Given the description of an element on the screen output the (x, y) to click on. 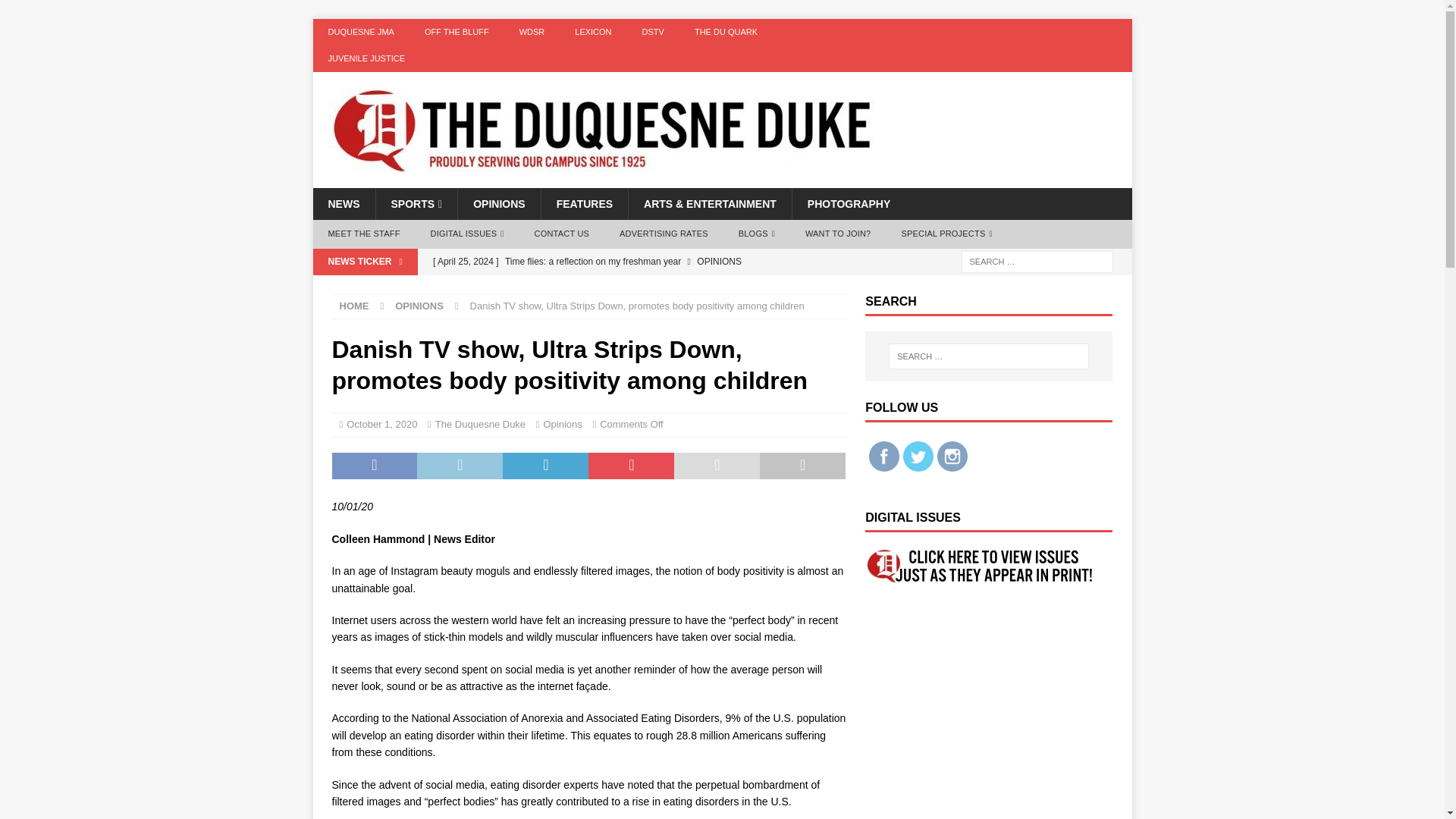
OPINIONS (498, 204)
JUVENILE JUSTICE (366, 58)
OFF THE BLUFF (456, 31)
Is Duquesne getting a sensory garden? (634, 287)
DUQUESNE JMA (361, 31)
Time flies: a reflection on my freshman year (634, 261)
FEATURES (583, 204)
THE DU QUARK (726, 31)
SPORTS (415, 204)
DSTV (653, 31)
WDSR (531, 31)
NEWS (343, 204)
LEXICON (592, 31)
